Given the description of an element on the screen output the (x, y) to click on. 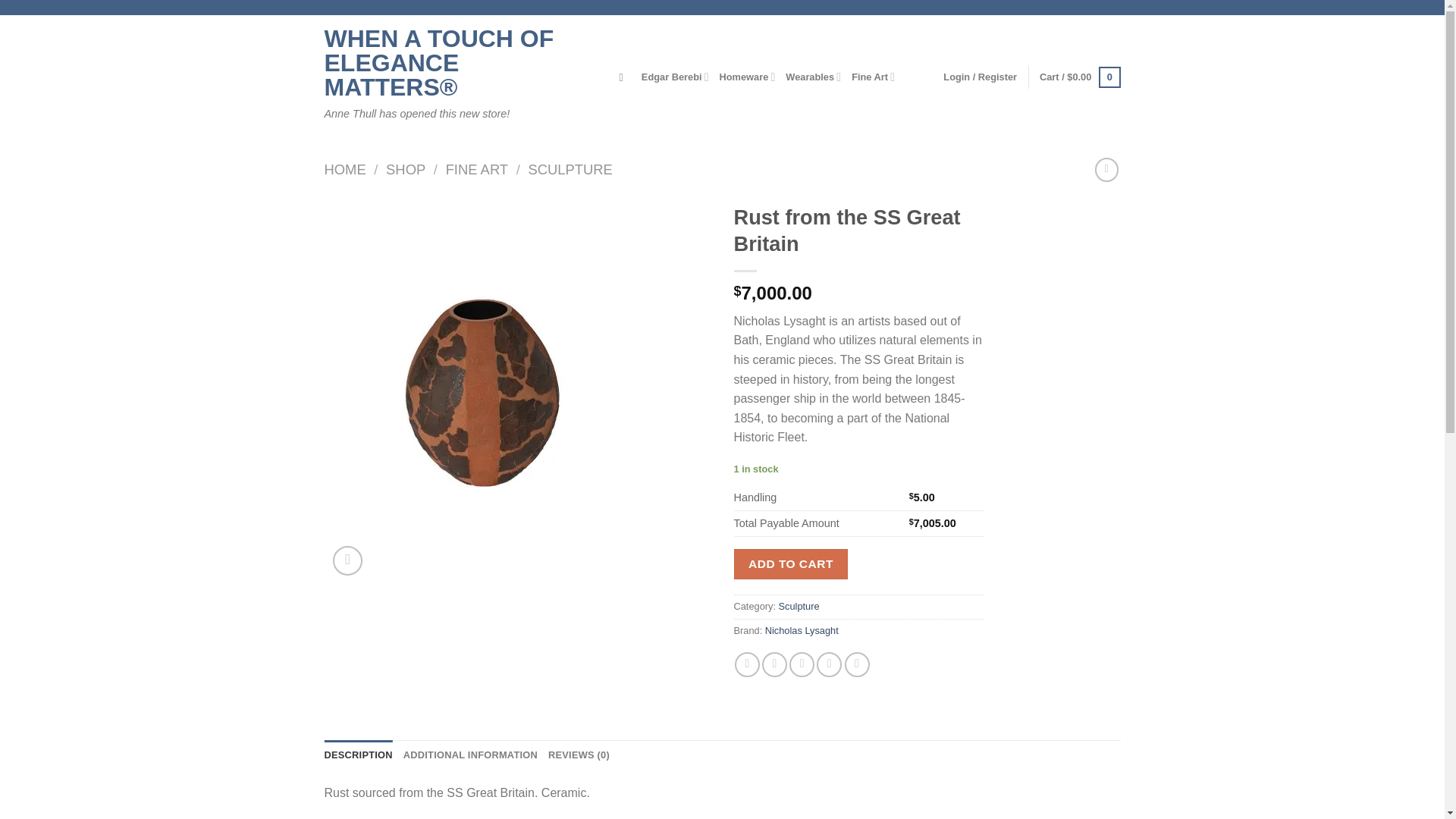
Homeware (747, 76)
Share on Facebook (747, 664)
Zoom (347, 560)
SHOP (405, 169)
HOME (345, 169)
Cart (1079, 77)
Share on Twitter (774, 664)
SCULPTURE (569, 169)
Wearables (813, 76)
FINE ART (476, 169)
Login (979, 76)
Email to a Friend (801, 664)
Share on LinkedIn (856, 664)
Edgar Berebi (675, 76)
Pin on Pinterest (828, 664)
